Given the description of an element on the screen output the (x, y) to click on. 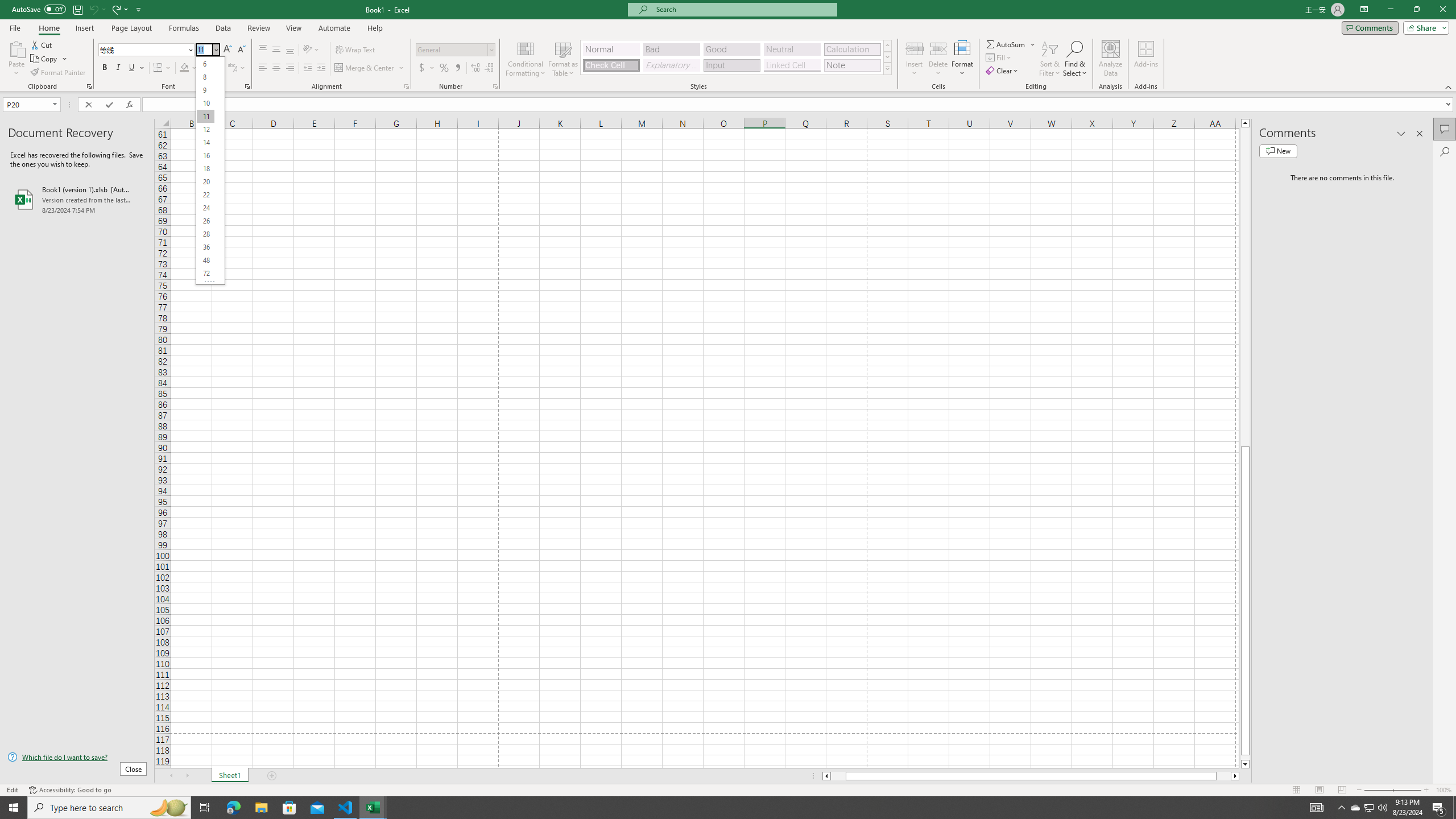
Formulas (184, 28)
Formula Bar (799, 104)
Explanatory Text (671, 65)
Font Color (210, 67)
Orientation (311, 49)
Insert (914, 58)
Accounting Number Format (426, 67)
Name Box (27, 104)
Increase Indent (320, 67)
14 (205, 142)
Name Box (30, 104)
Paste (16, 48)
Task Pane Options (1400, 133)
Format Cell Number (494, 85)
